Given the description of an element on the screen output the (x, y) to click on. 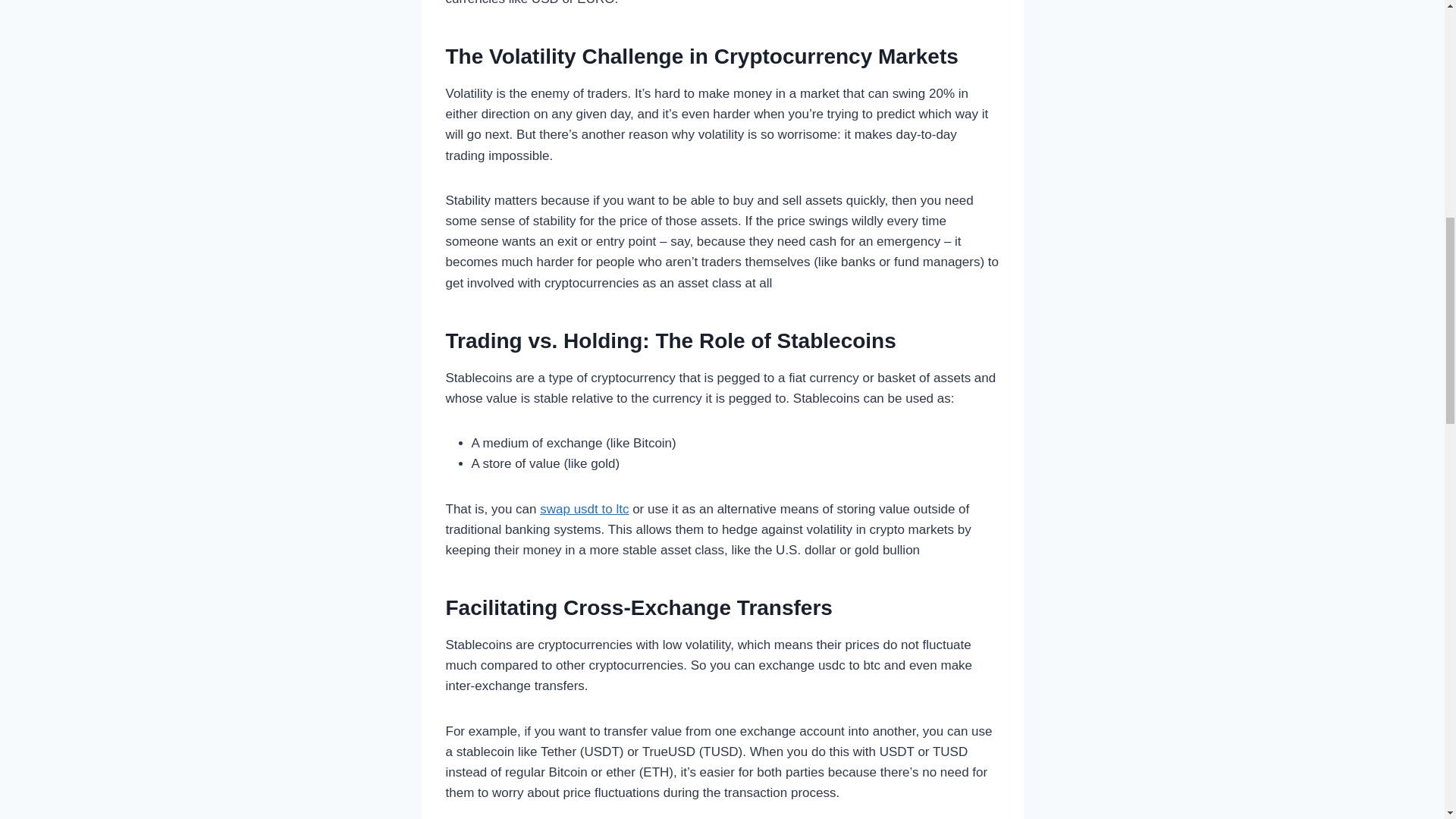
swap usdt to ltc (584, 509)
swap usdt to ltc (584, 509)
